Given the description of an element on the screen output the (x, y) to click on. 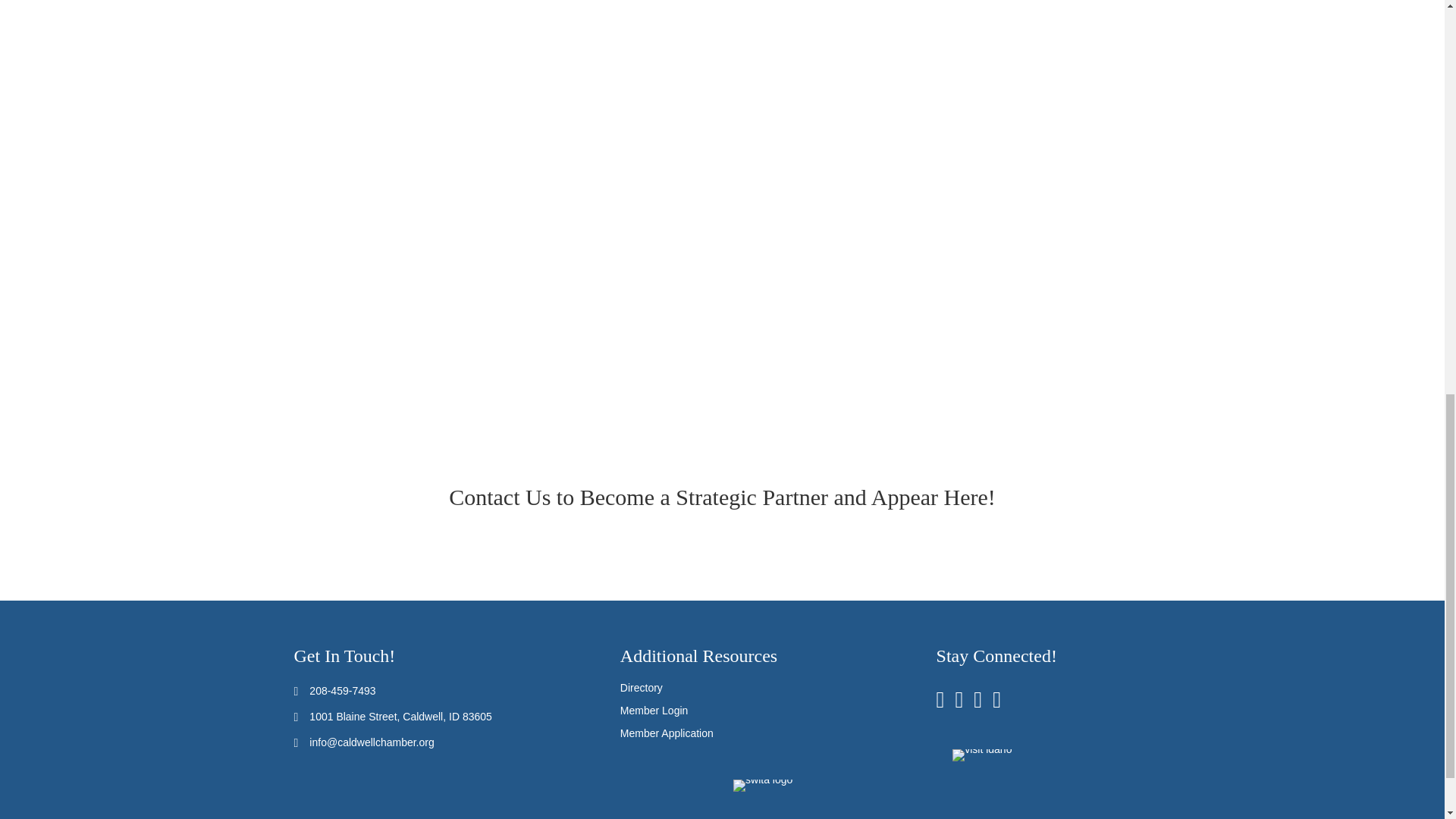
swita logo (762, 785)
visit idaho (981, 755)
Contact Us to Become a Strategic Partner and Appear Here! (721, 496)
